Given the description of an element on the screen output the (x, y) to click on. 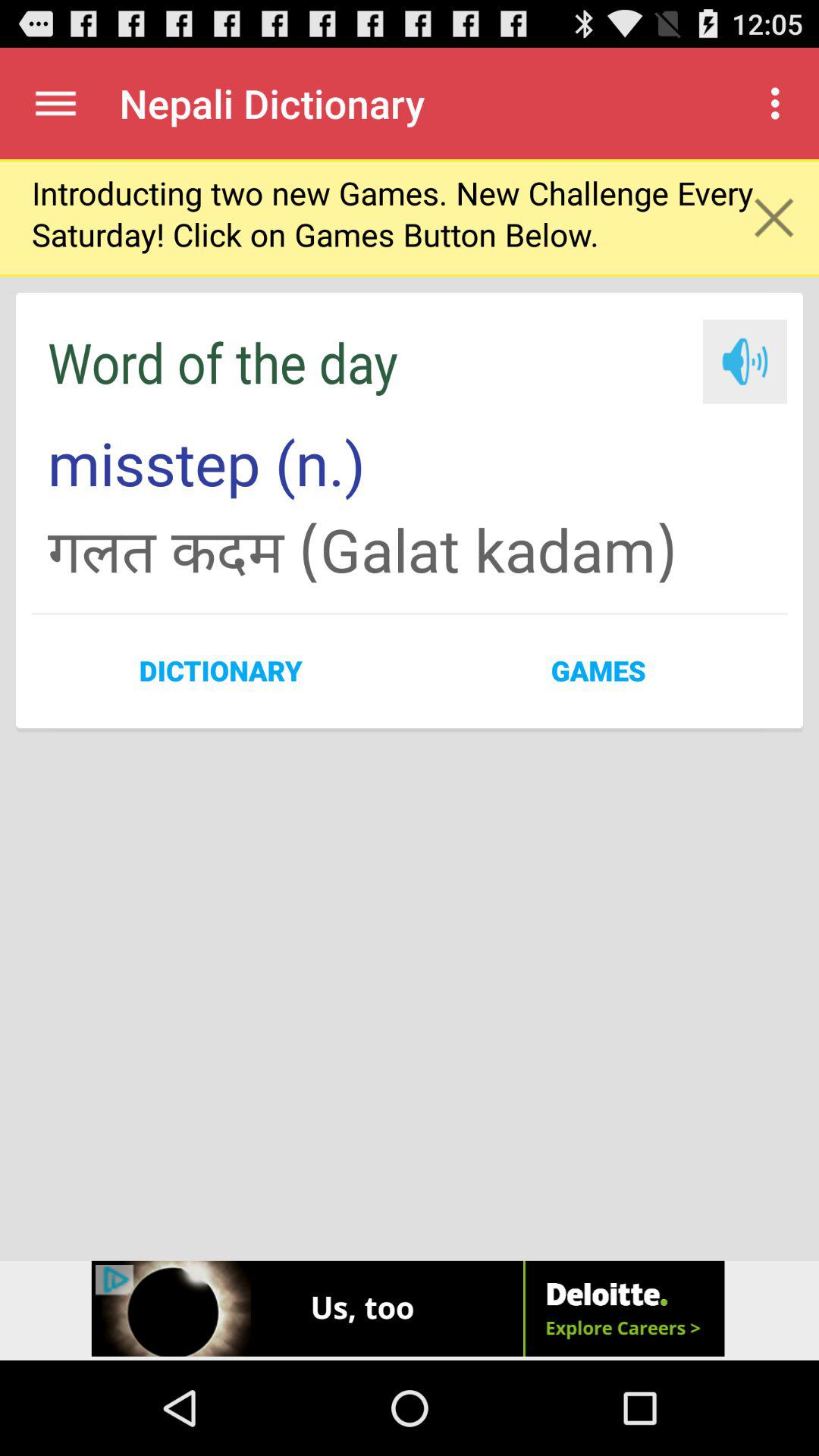
listen to the pronounciation of the word (744, 361)
